Given the description of an element on the screen output the (x, y) to click on. 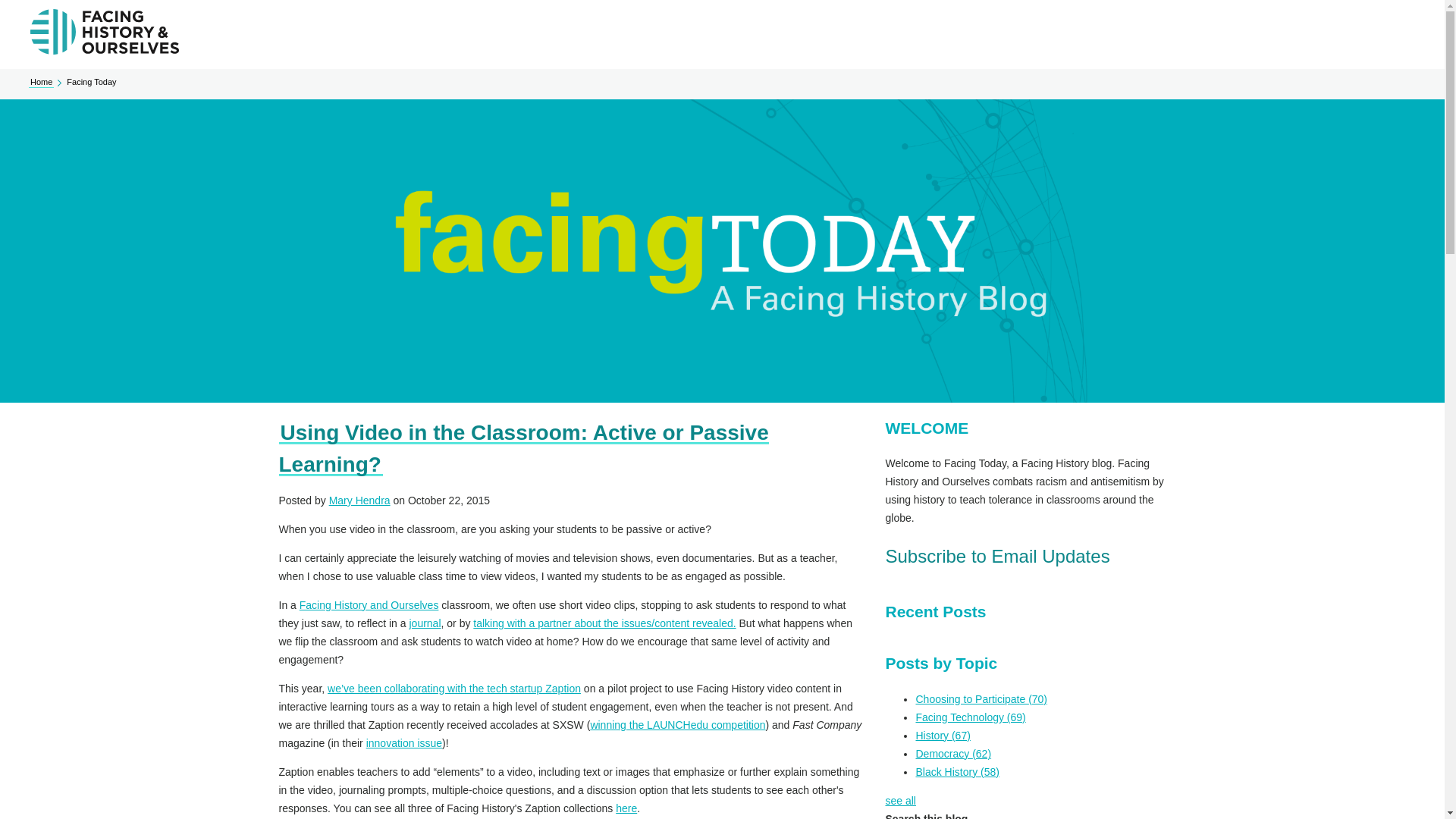
innovation issue (404, 743)
journal (425, 623)
Using Video in the Classroom: Active or Passive Learning? (523, 447)
winning the LAUNCHedu competition (677, 725)
here (626, 808)
Mary Hendra (359, 500)
Home (41, 81)
Facing History and Ourselves (369, 604)
